Given the description of an element on the screen output the (x, y) to click on. 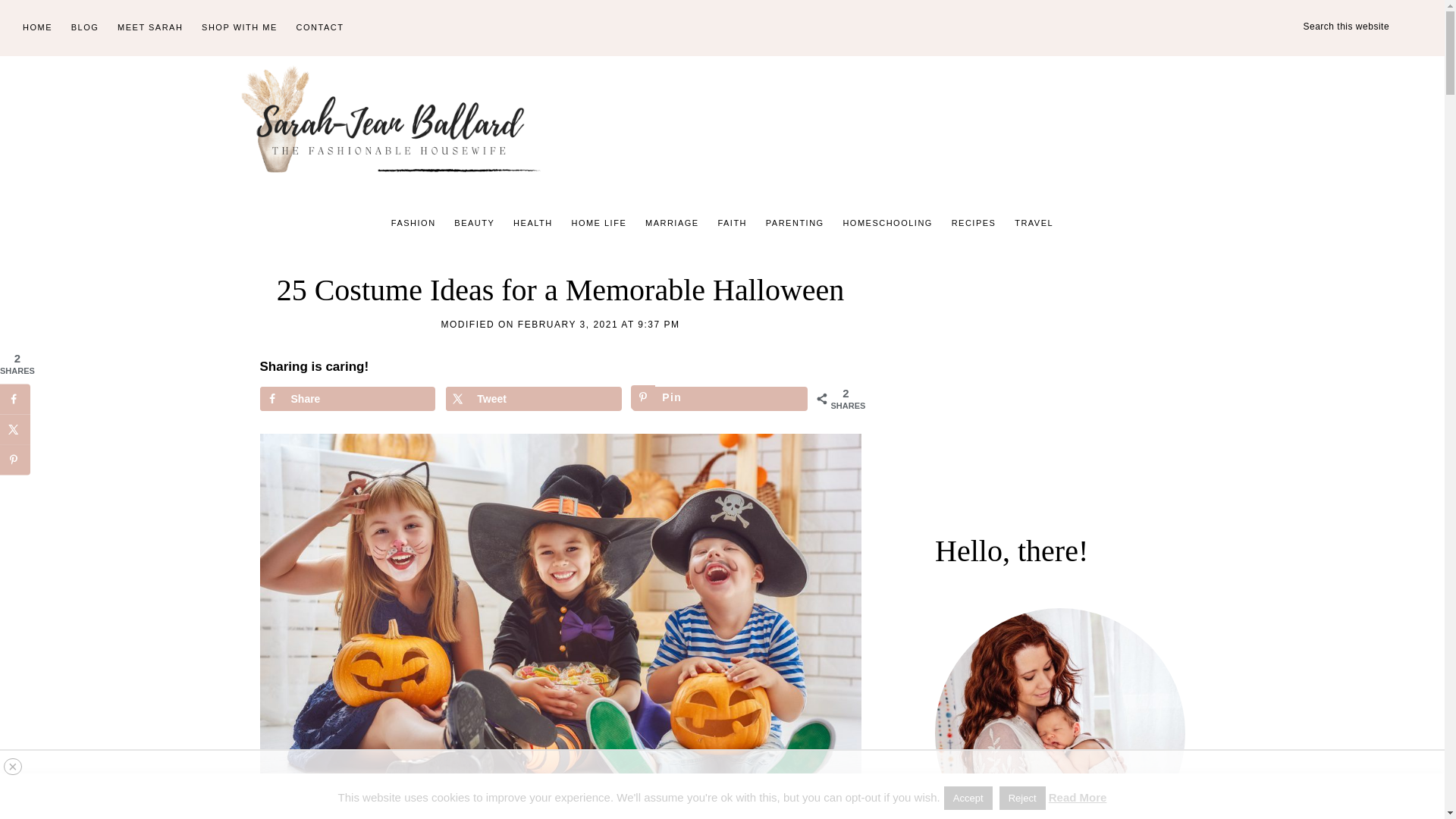
MEET SARAH (150, 27)
BEAUTY (474, 223)
BLOG (85, 27)
HOME (36, 27)
SHOP WITH ME (239, 27)
Save to Pinterest (719, 398)
FASHION (414, 223)
CONTACT (320, 27)
Share on Facebook (346, 398)
Share on X (533, 398)
